Given the description of an element on the screen output the (x, y) to click on. 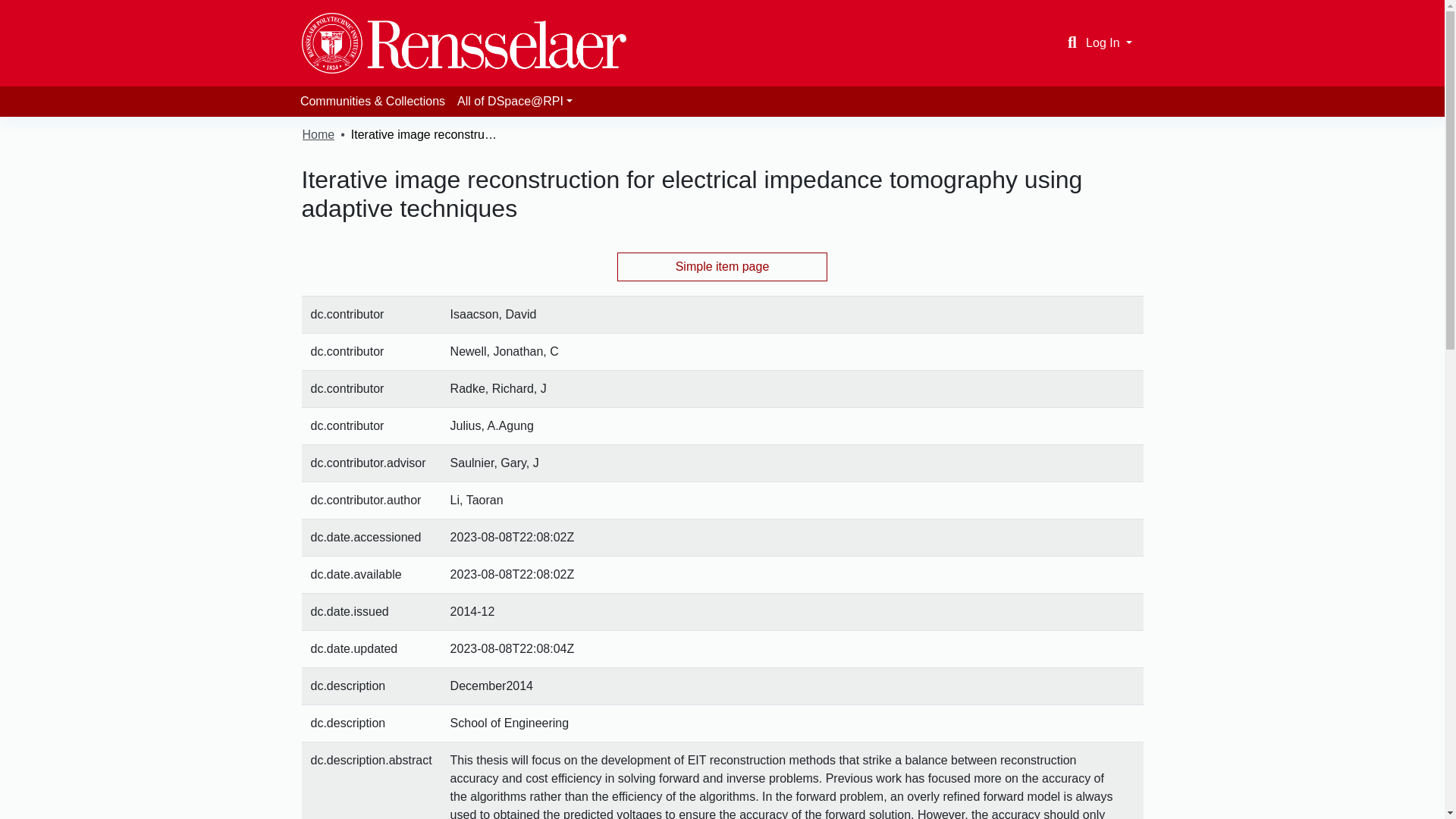
Simple item page (722, 266)
Home (317, 135)
Search (1072, 43)
Log In (1108, 42)
